Given the description of an element on the screen output the (x, y) to click on. 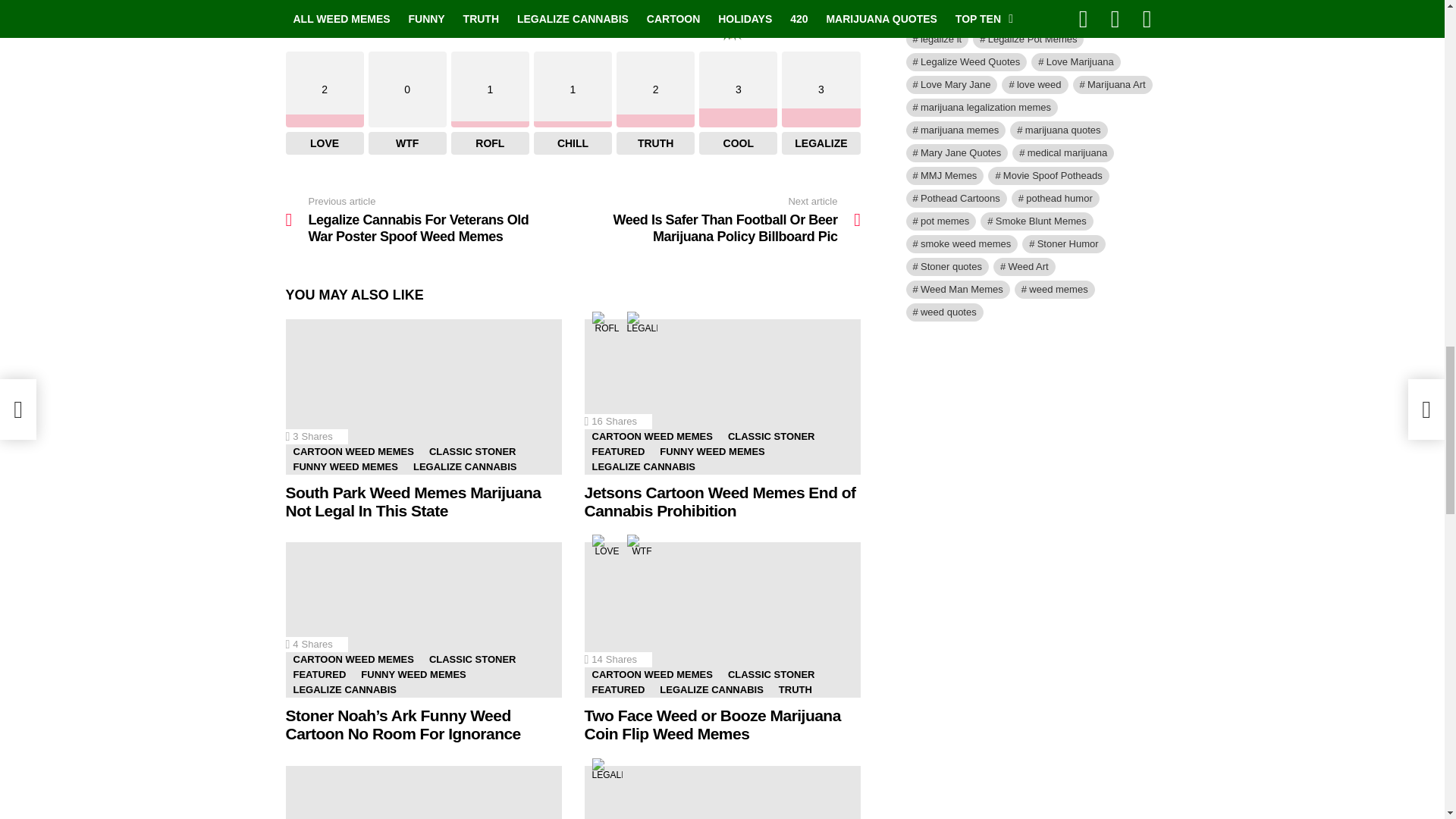
Jetsons Cartoon Weed Memes End of Cannabis Prohibition (721, 397)
ROFL (606, 327)
South Park Weed Memes Marijuana Not Legal In This State (422, 397)
Legalize (641, 327)
